Given the description of an element on the screen output the (x, y) to click on. 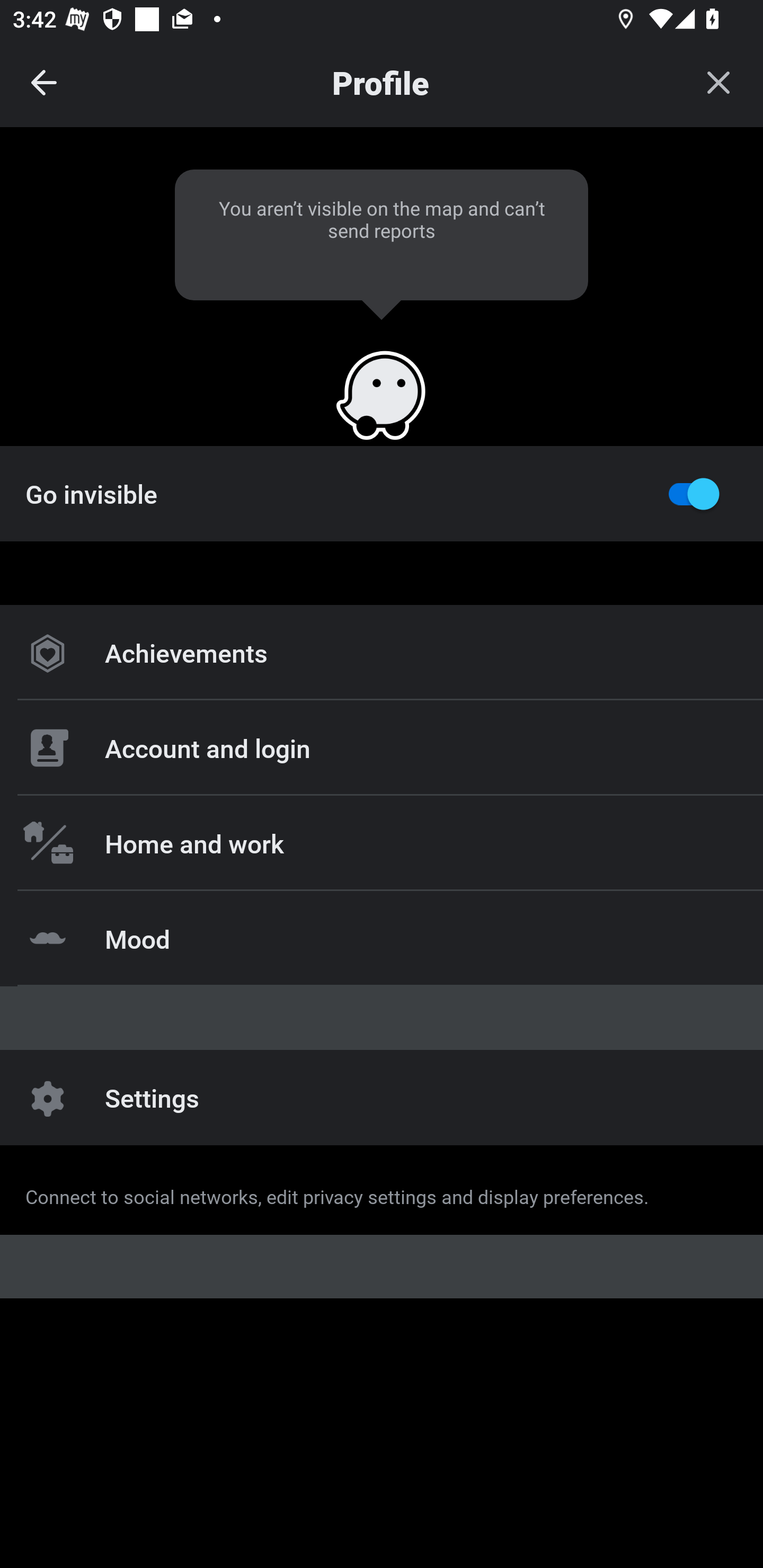
Go invisible (381, 492)
Achievements (381, 652)
Account and login (381, 747)
Home and work (381, 842)
Mood (381, 938)
Settings (381, 1097)
